Given the description of an element on the screen output the (x, y) to click on. 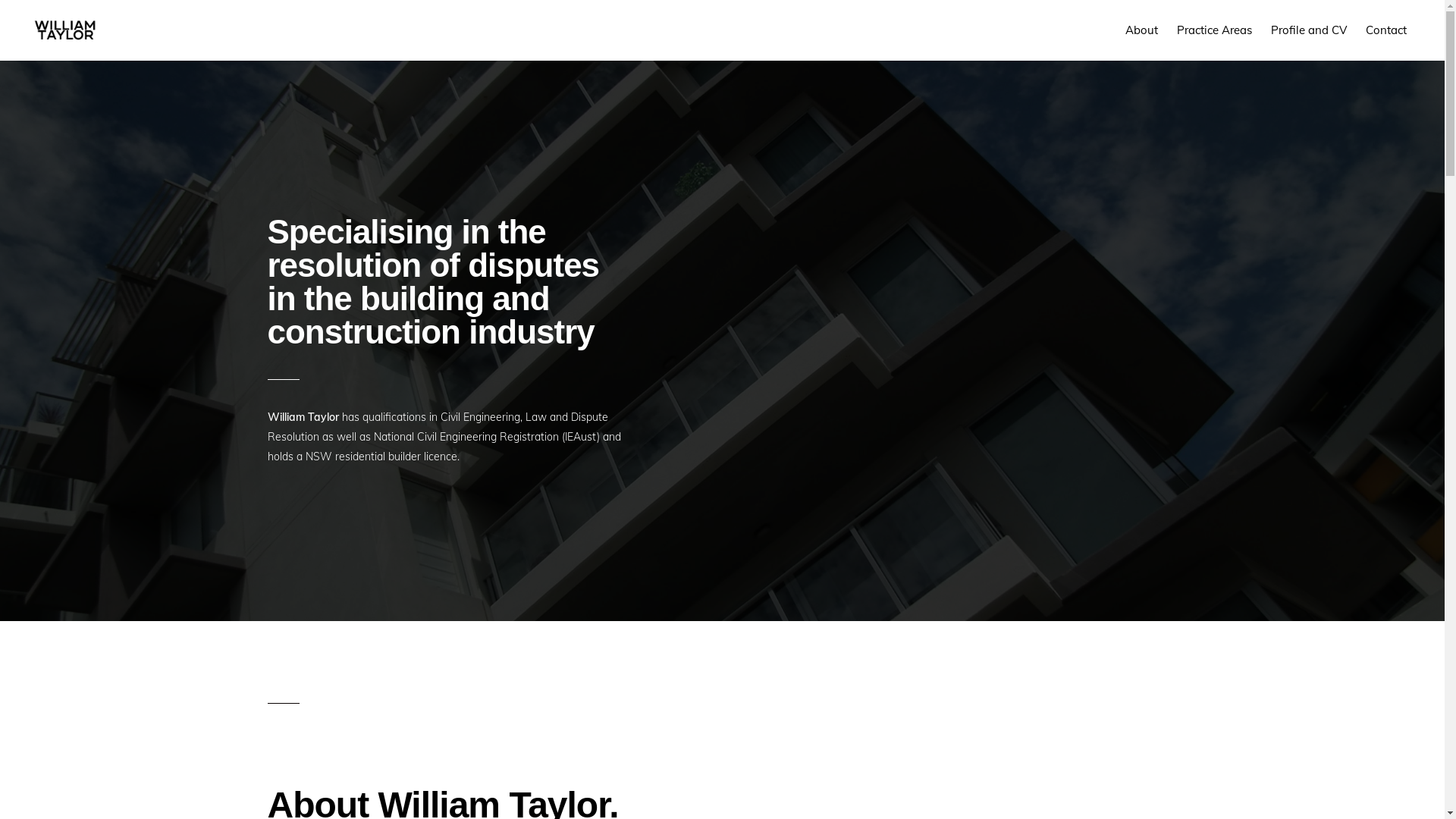
Practice Areas Element type: text (1214, 29)
Contact Element type: text (1386, 29)
View our Privacy Policy Element type: text (787, 783)
Profile and CV Element type: text (1308, 29)
Website created by TransformLogiQ Element type: text (926, 783)
View our Disclaimer Statement Element type: text (660, 783)
Skip to primary navigation Element type: text (0, 0)
About Element type: text (1141, 29)
